Given the description of an element on the screen output the (x, y) to click on. 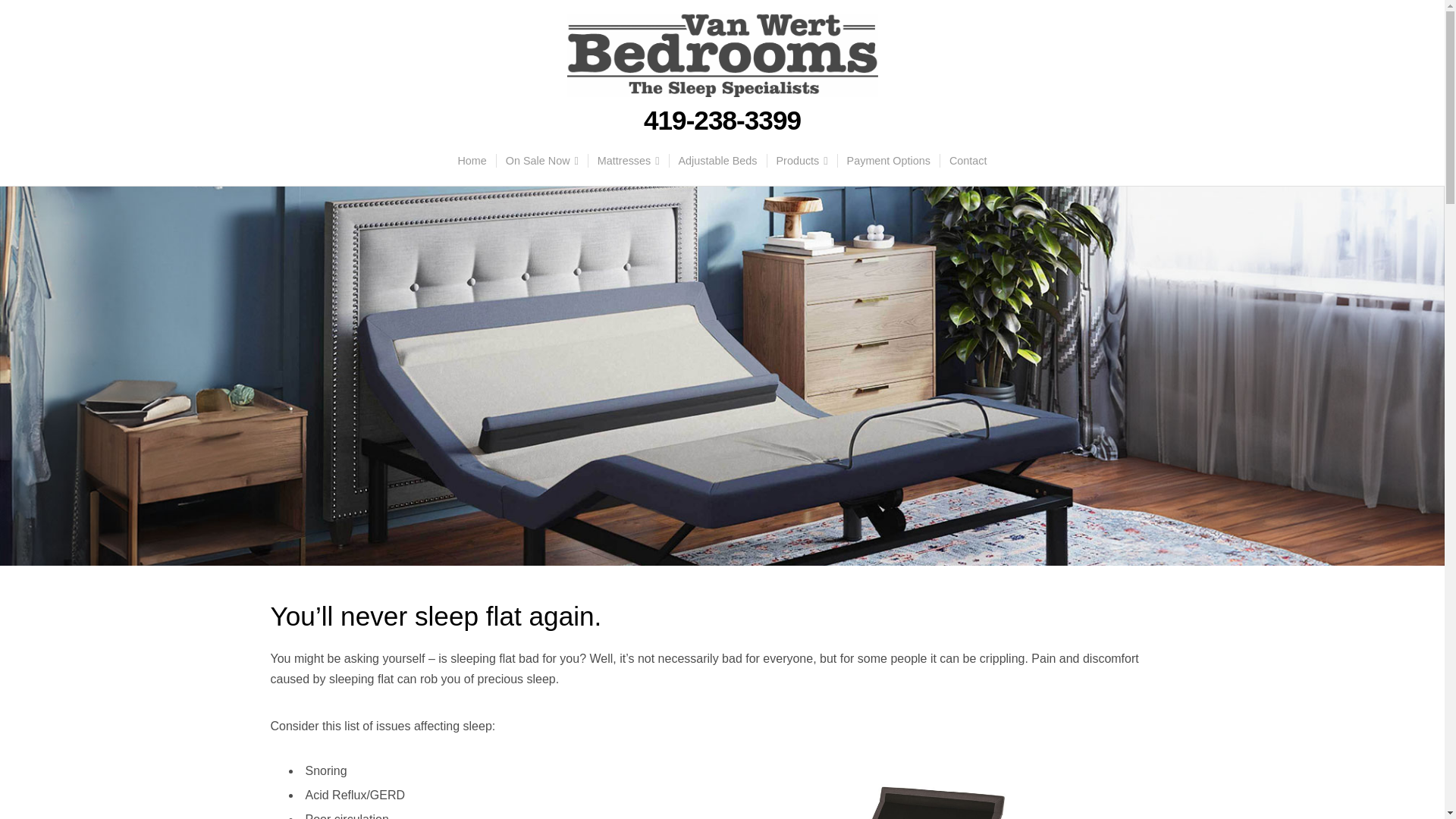
Home (471, 160)
Mattresses (628, 160)
On Sale Now (542, 160)
419-238-3399 (721, 120)
Adjustable Beds (717, 160)
Payment Options (888, 160)
Products (802, 160)
Contact (967, 160)
